Given the description of an element on the screen output the (x, y) to click on. 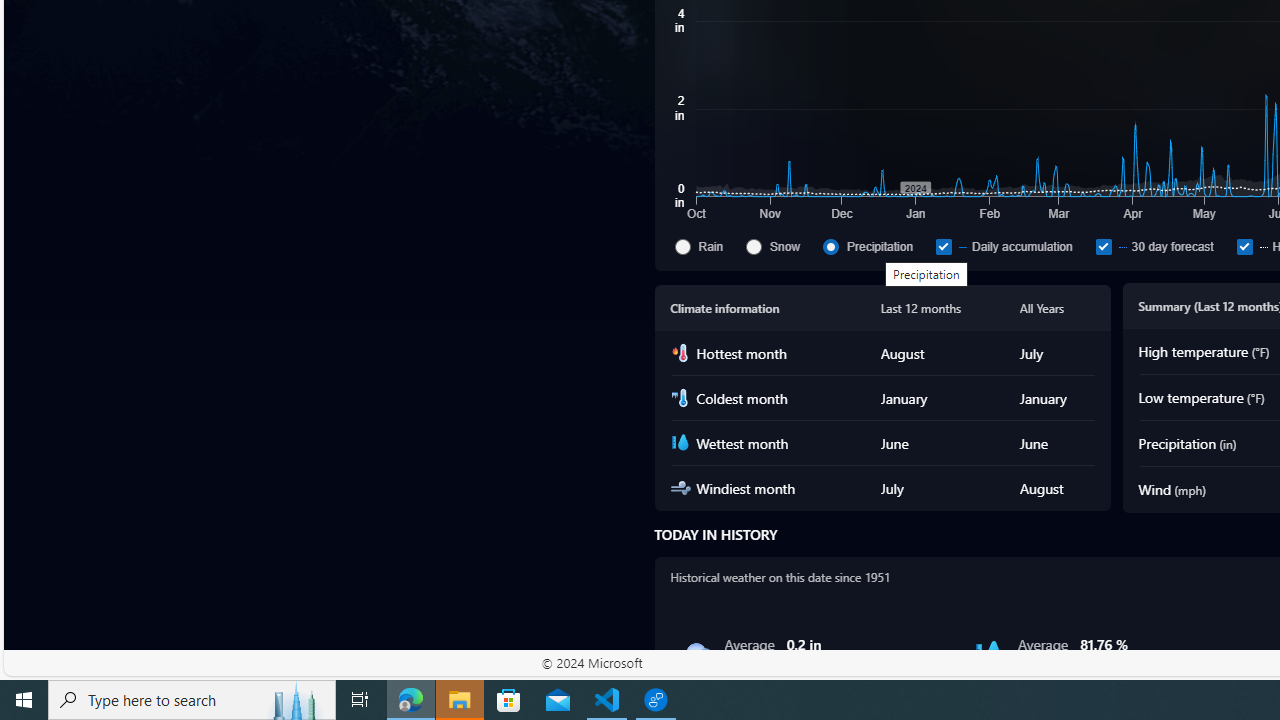
30 day forecast (1103, 246)
Rain (682, 246)
30 day forecast (1161, 246)
Precipitation (875, 246)
Daily accumulation (1011, 246)
Rain (706, 246)
Snow (754, 246)
Precipitation (831, 246)
Daily accumulation (943, 246)
Snow (781, 246)
Humidity (989, 654)
Rain (695, 654)
Historical daily accumulation (1244, 246)
